Given the description of an element on the screen output the (x, y) to click on. 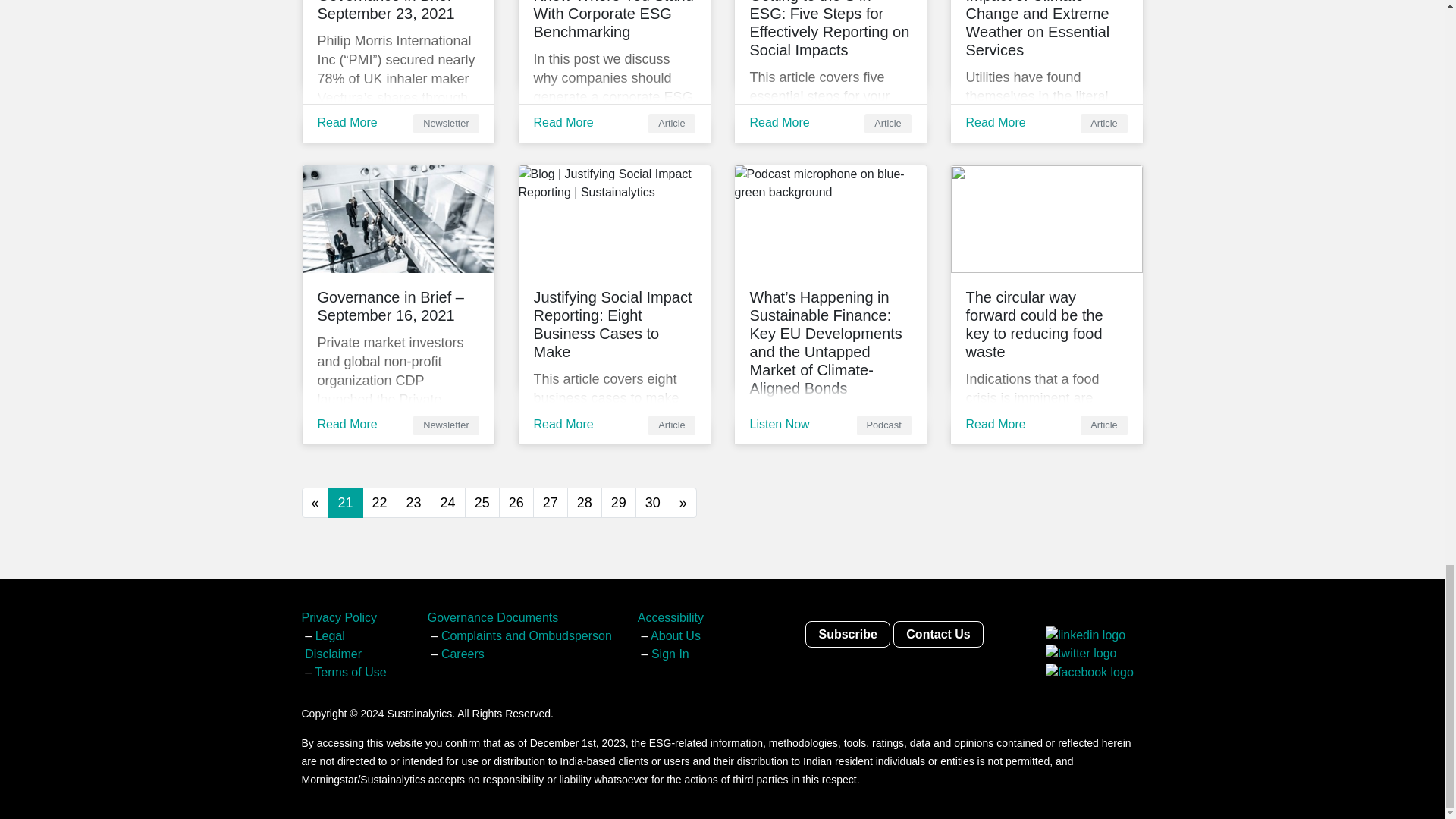
governance in brief (397, 218)
Podcast header - azure2 (829, 218)
Blog-Justifying-Social-Impact-Reporting (614, 218)
